Given the description of an element on the screen output the (x, y) to click on. 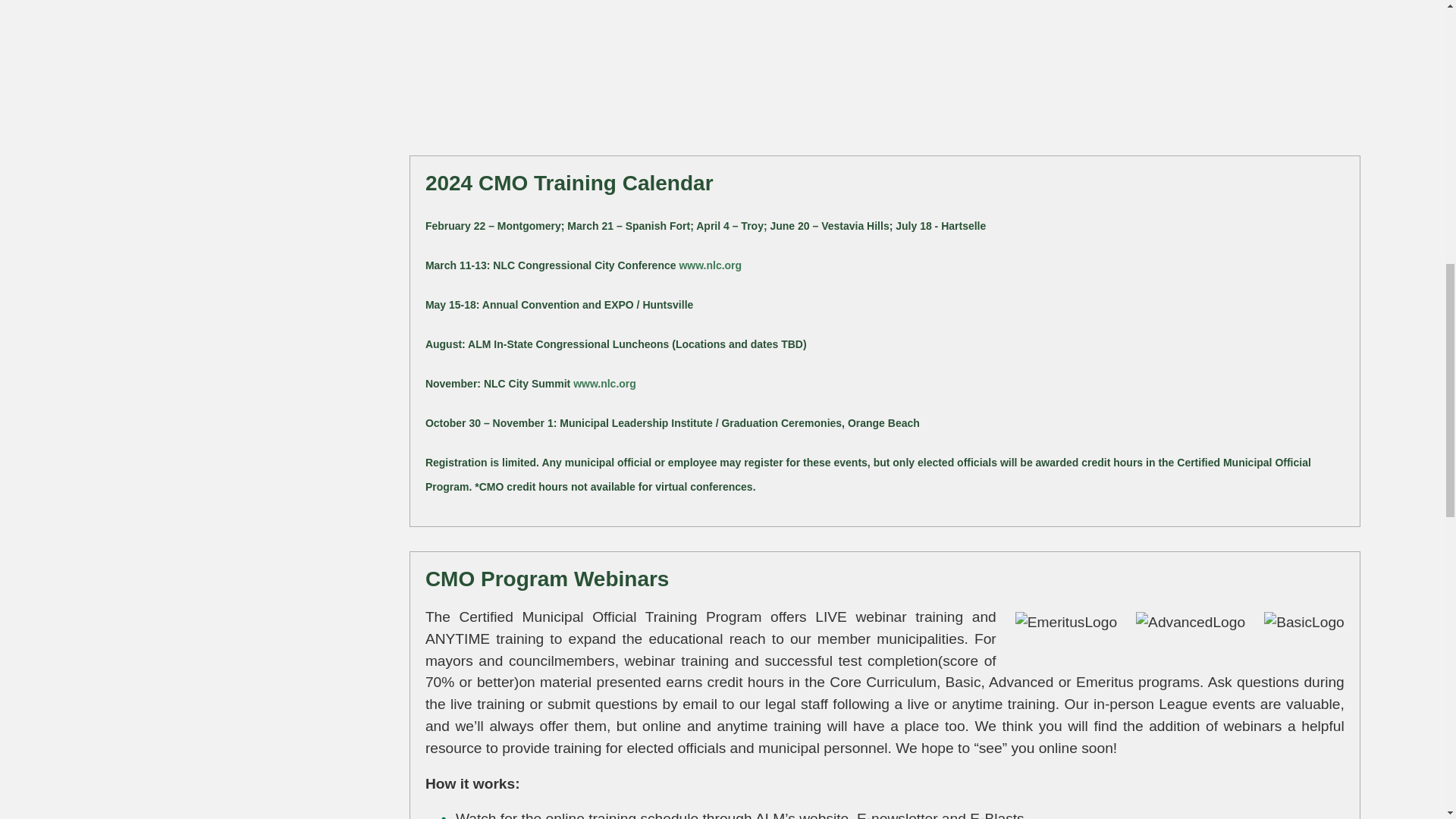
YouTube video player (884, 66)
